Given the description of an element on the screen output the (x, y) to click on. 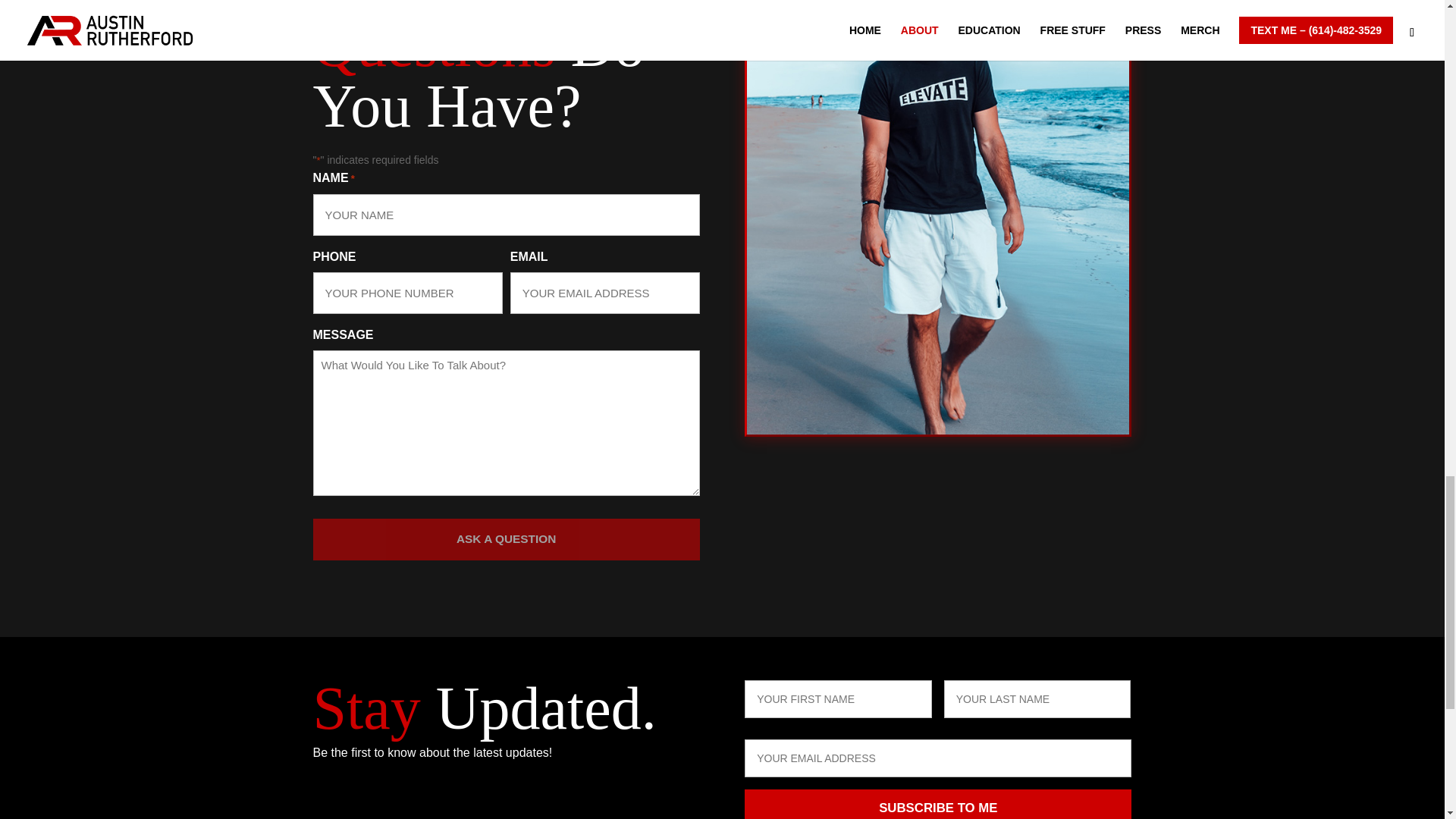
Ask A Question (505, 539)
Subscribe To Me (937, 804)
Subscribe To Me (937, 804)
Ask A Question (505, 539)
